Given the description of an element on the screen output the (x, y) to click on. 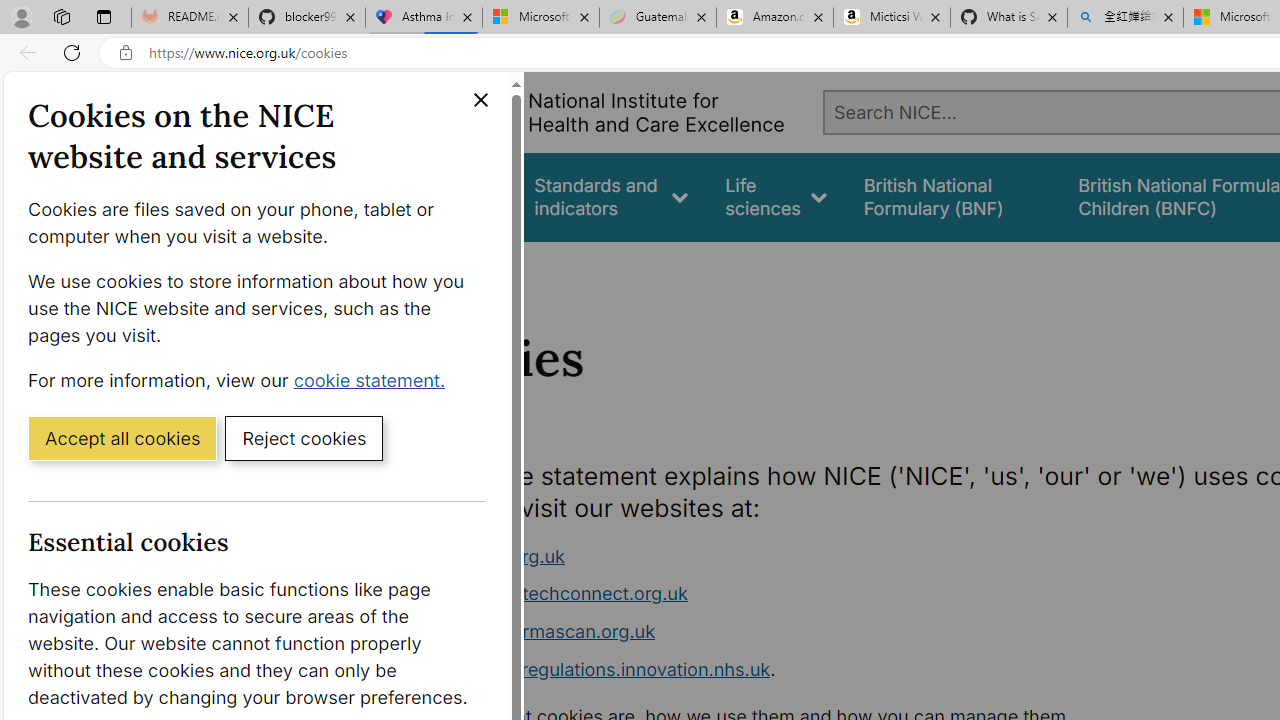
Guidance (458, 196)
Life sciences (776, 196)
Reject cookies (304, 437)
Guidance (458, 196)
Life sciences (776, 196)
